Given the description of an element on the screen output the (x, y) to click on. 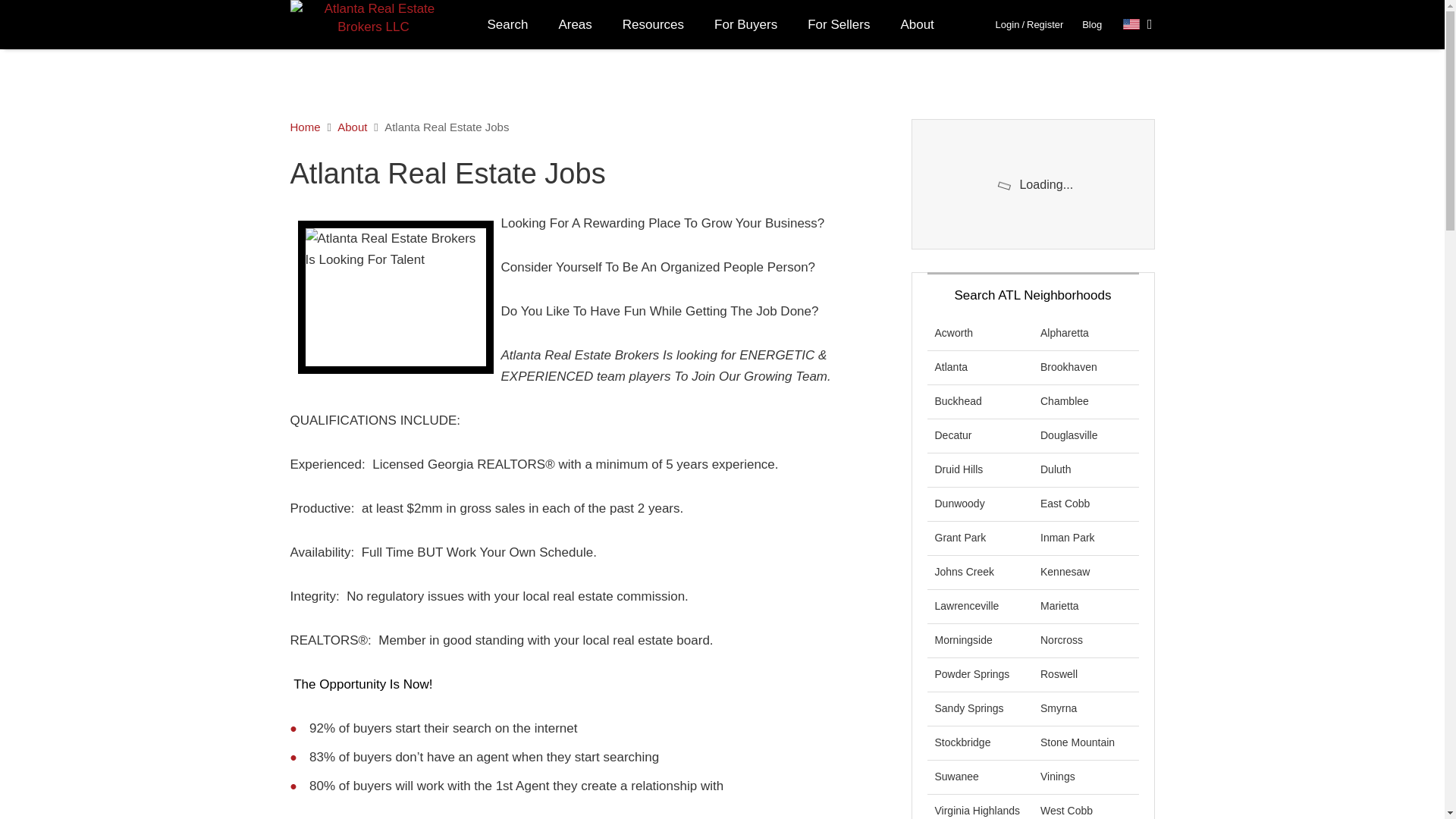
Areas (575, 24)
Join Our Team (395, 296)
Select Language (1137, 24)
Search (507, 24)
